Given the description of an element on the screen output the (x, y) to click on. 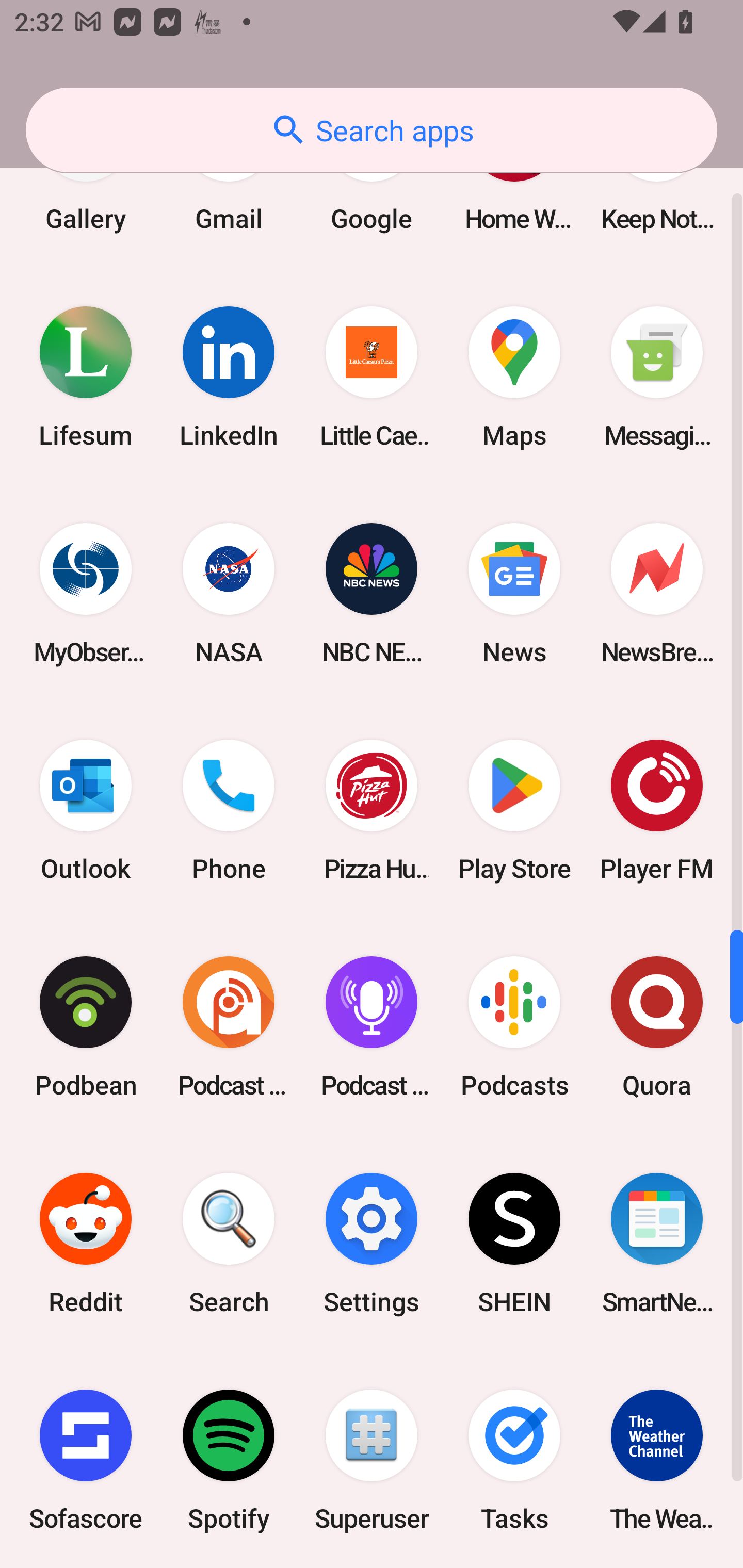
  Search apps (371, 130)
Lifesum (85, 377)
LinkedIn (228, 377)
Little Caesars Pizza (371, 377)
Maps (514, 377)
Messaging (656, 377)
MyObservatory (85, 594)
NASA (228, 594)
NBC NEWS (371, 594)
News (514, 594)
NewsBreak (656, 594)
Outlook (85, 810)
Phone (228, 810)
Pizza Hut HK & Macau (371, 810)
Play Store (514, 810)
Player FM (656, 810)
Podbean (85, 1026)
Podcast Addict (228, 1026)
Podcast Player (371, 1026)
Podcasts (514, 1026)
Quora (656, 1026)
Reddit (85, 1243)
Search (228, 1243)
Settings (371, 1243)
SHEIN (514, 1243)
SmartNews (656, 1243)
Sofascore (85, 1459)
Spotify (228, 1459)
Superuser (371, 1459)
Tasks (514, 1459)
The Weather Channel (656, 1459)
